Given the description of an element on the screen output the (x, y) to click on. 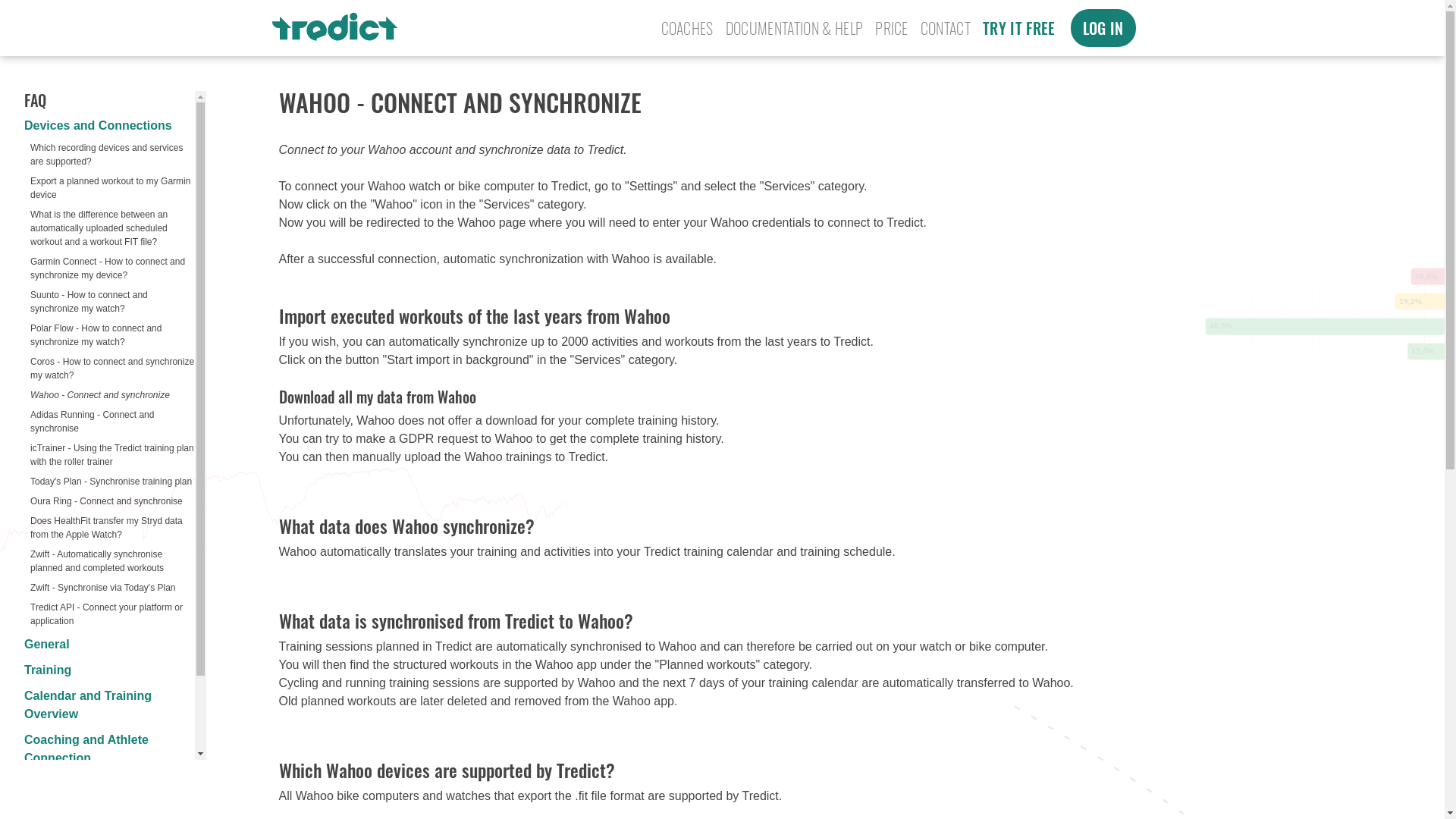
Oura Ring - Connect and synchronise (106, 501)
PRICE (891, 27)
Polar Flow - How to connect and synchronize my watch? (95, 334)
Does HealthFit transfer my Stryd data from the Apple Watch? (106, 527)
Coros - How to connect and synchronize my watch? (111, 368)
General (46, 644)
Suunto - How to connect and synchronize my watch? (89, 301)
COACHES (687, 27)
